Given the description of an element on the screen output the (x, y) to click on. 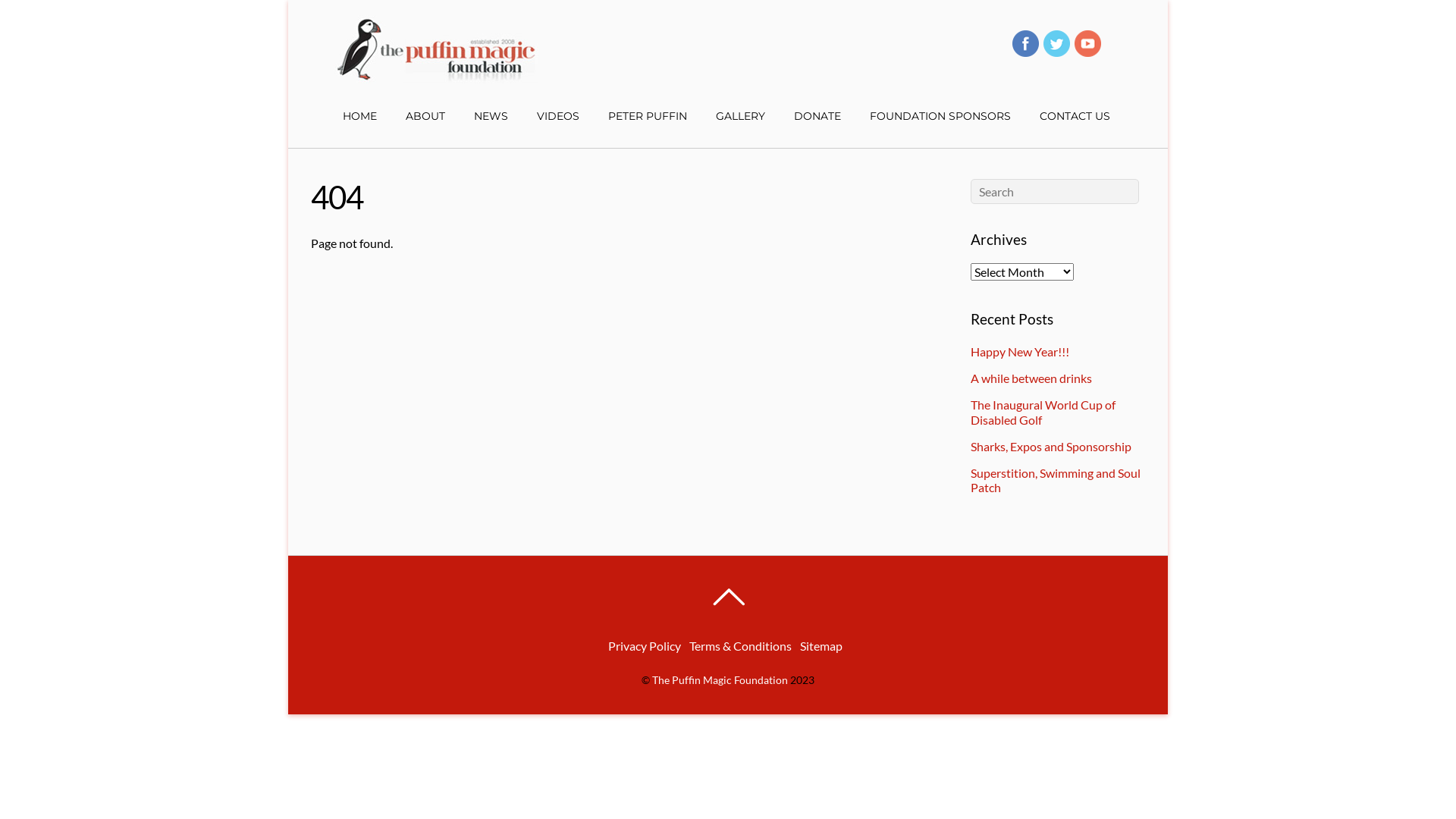
Privacy Policy Element type: text (644, 645)
PETER PUFFIN Element type: text (646, 115)
Sitemap Element type: text (820, 645)
VIDEOS Element type: text (556, 115)
GALLERY Element type: text (739, 115)
HOME Element type: text (358, 115)
Terms & Conditions Element type: text (739, 645)
DONATE Element type: text (817, 115)
FOUNDATION SPONSORS Element type: text (940, 115)
Back To Top Element type: hover (727, 596)
Superstition, Swimming and Soul Patch Element type: text (1055, 479)
The Puffin Magic Foundation Element type: text (719, 679)
NEWS Element type: text (490, 115)
Sharks, Expos and Sponsorship Element type: text (1050, 446)
Happy New Year!!! Element type: text (1019, 351)
CONTACT US Element type: text (1074, 115)
ABOUT Element type: text (425, 115)
A while between drinks Element type: text (1031, 377)
The Inaugural World Cup of Disabled Golf Element type: text (1042, 411)
The Puffin Magic Foundation Element type: hover (435, 49)
The Puffin Magic Foundation Element type: hover (435, 70)
